Given the description of an element on the screen output the (x, y) to click on. 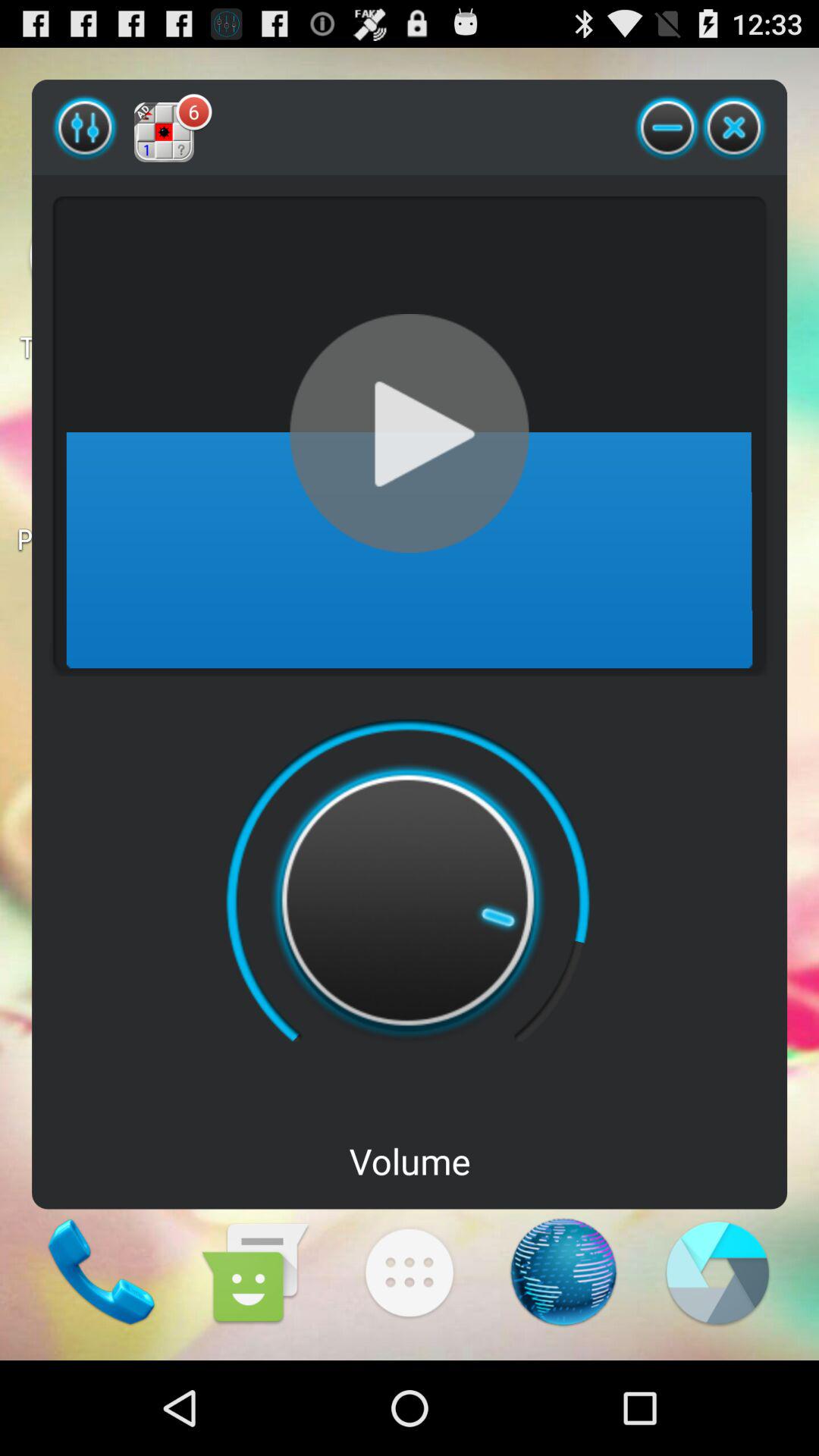
open the item next to the 6 (667, 126)
